Given the description of an element on the screen output the (x, y) to click on. 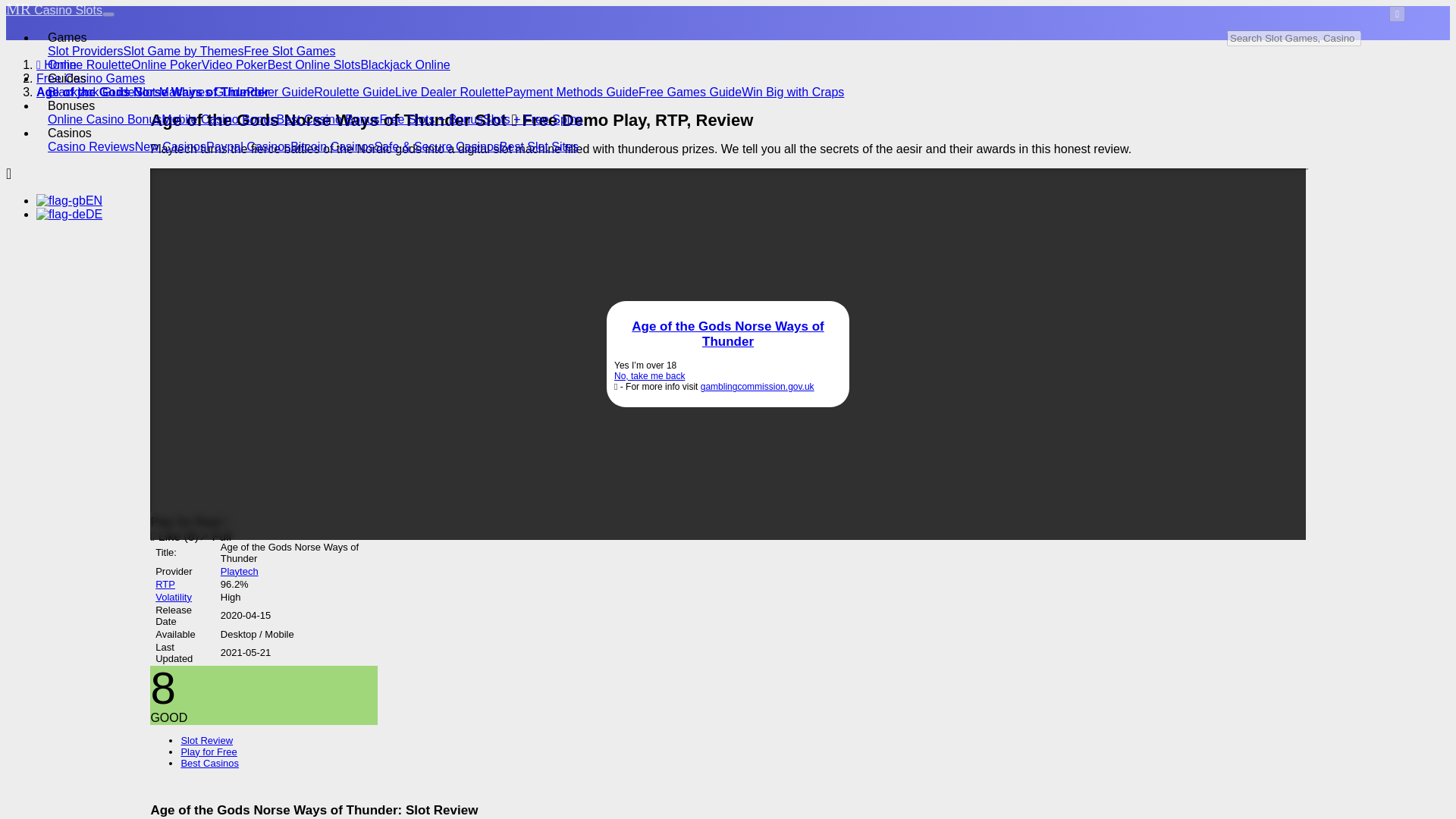
DE (68, 214)
Online Poker (166, 64)
Online Roulette (89, 64)
Video Poker (234, 64)
New Casinos (170, 146)
Bonuses (71, 105)
Blackjack Guide (91, 91)
Free Slot Games (288, 51)
Payment Methods Guide (572, 91)
Free Games Guide (690, 91)
